Given the description of an element on the screen output the (x, y) to click on. 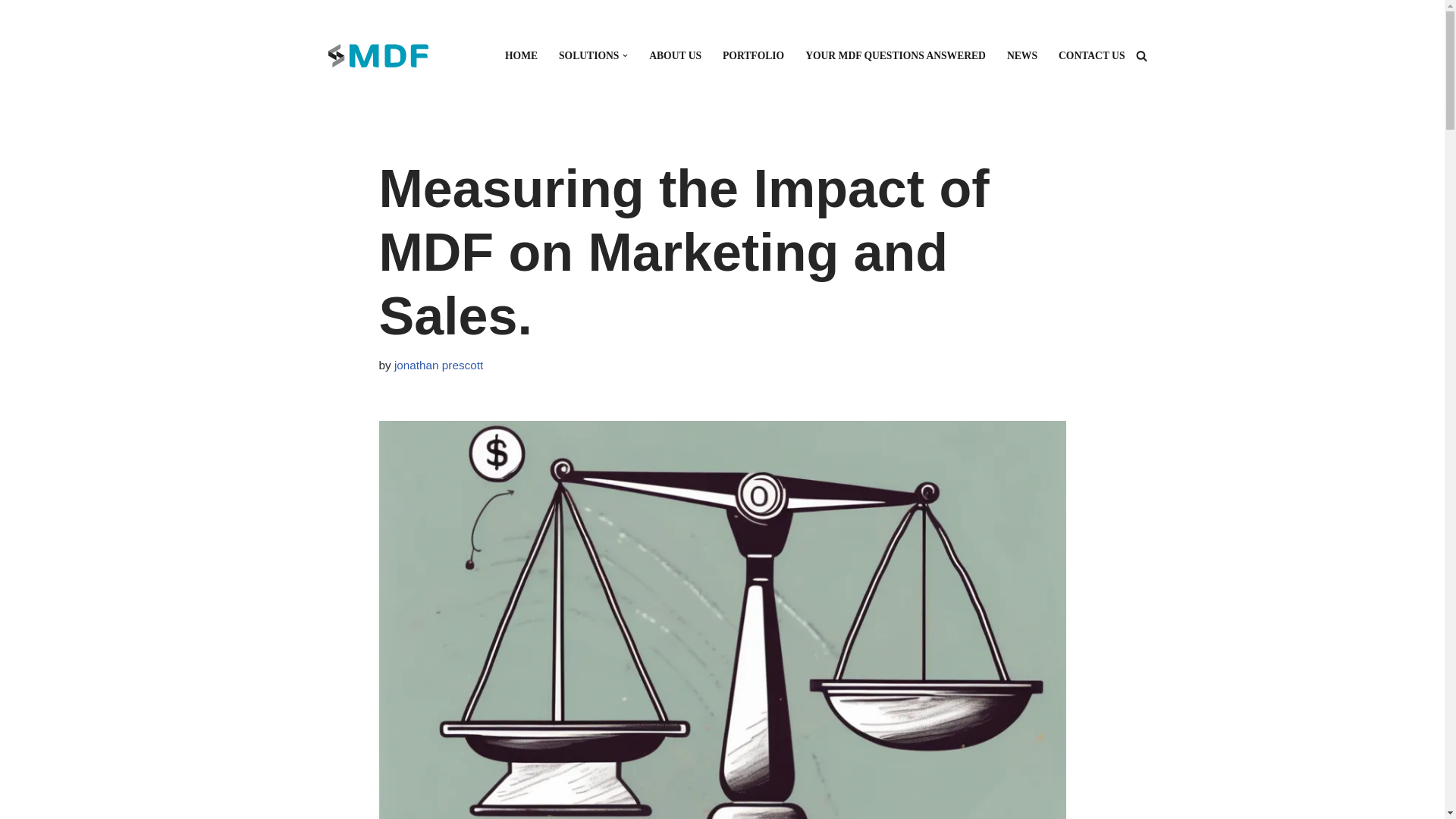
YOUR MDF QUESTIONS ANSWERED (895, 55)
PORTFOLIO (753, 55)
NEWS (1021, 55)
ABOUT US (675, 55)
CONTACT US (1091, 55)
Skip to content (11, 31)
HOME (521, 55)
SOLUTIONS (588, 55)
jonathan prescott (438, 364)
Posts by jonathan prescott (438, 364)
